Given the description of an element on the screen output the (x, y) to click on. 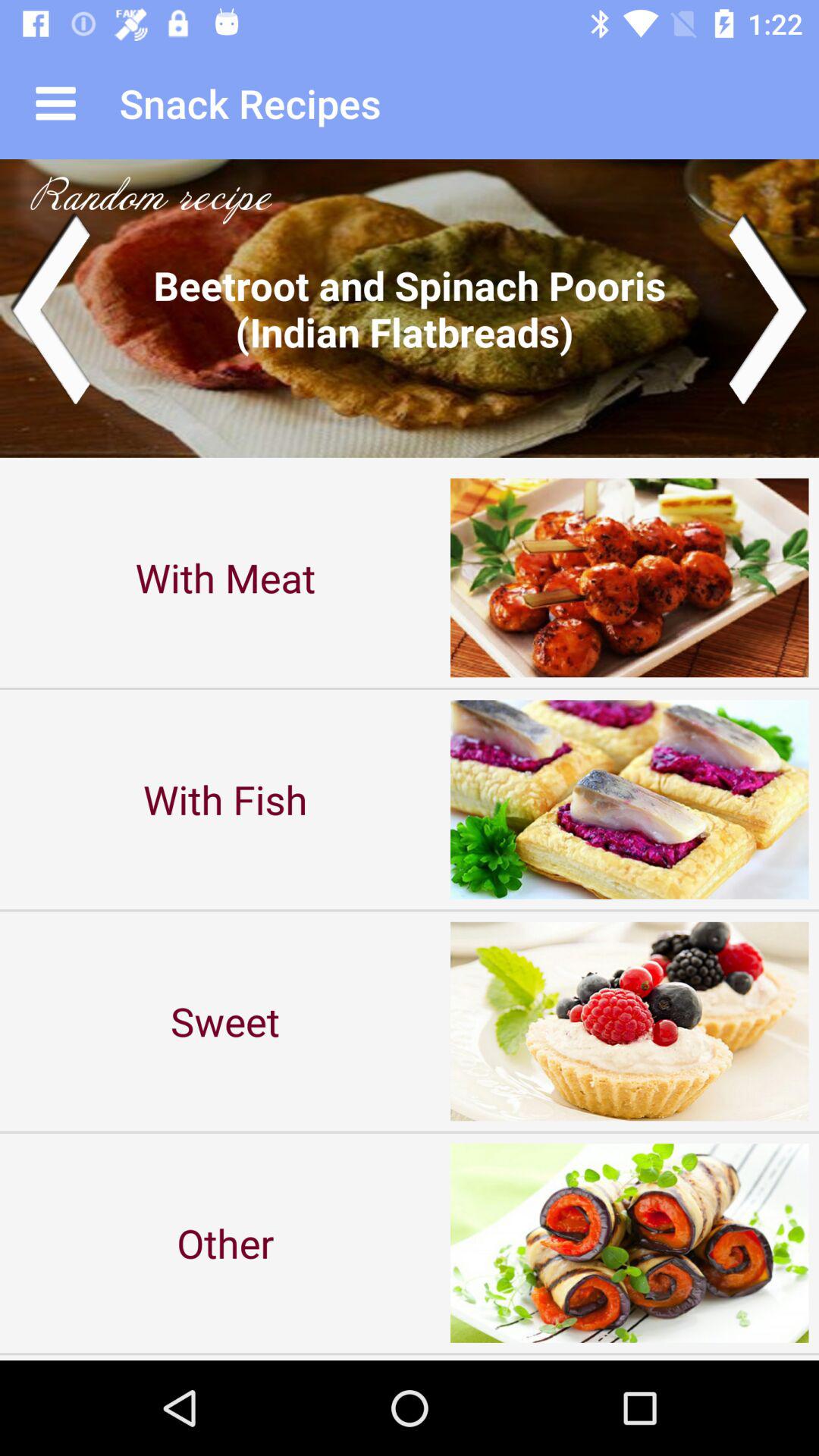
random recipe left arrow (49, 308)
